Given the description of an element on the screen output the (x, y) to click on. 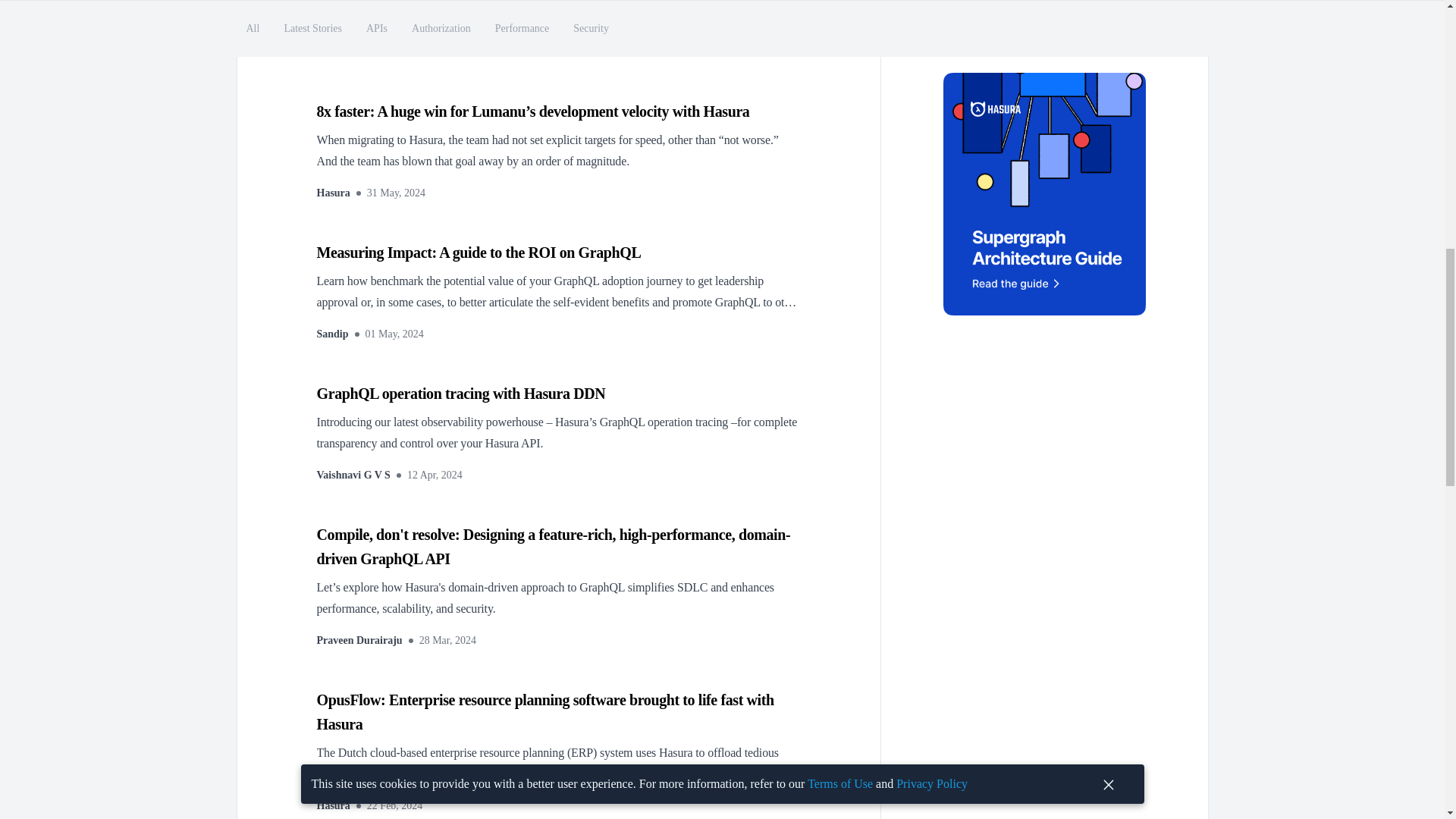
Tristen Harr (345, 52)
